Given the description of an element on the screen output the (x, y) to click on. 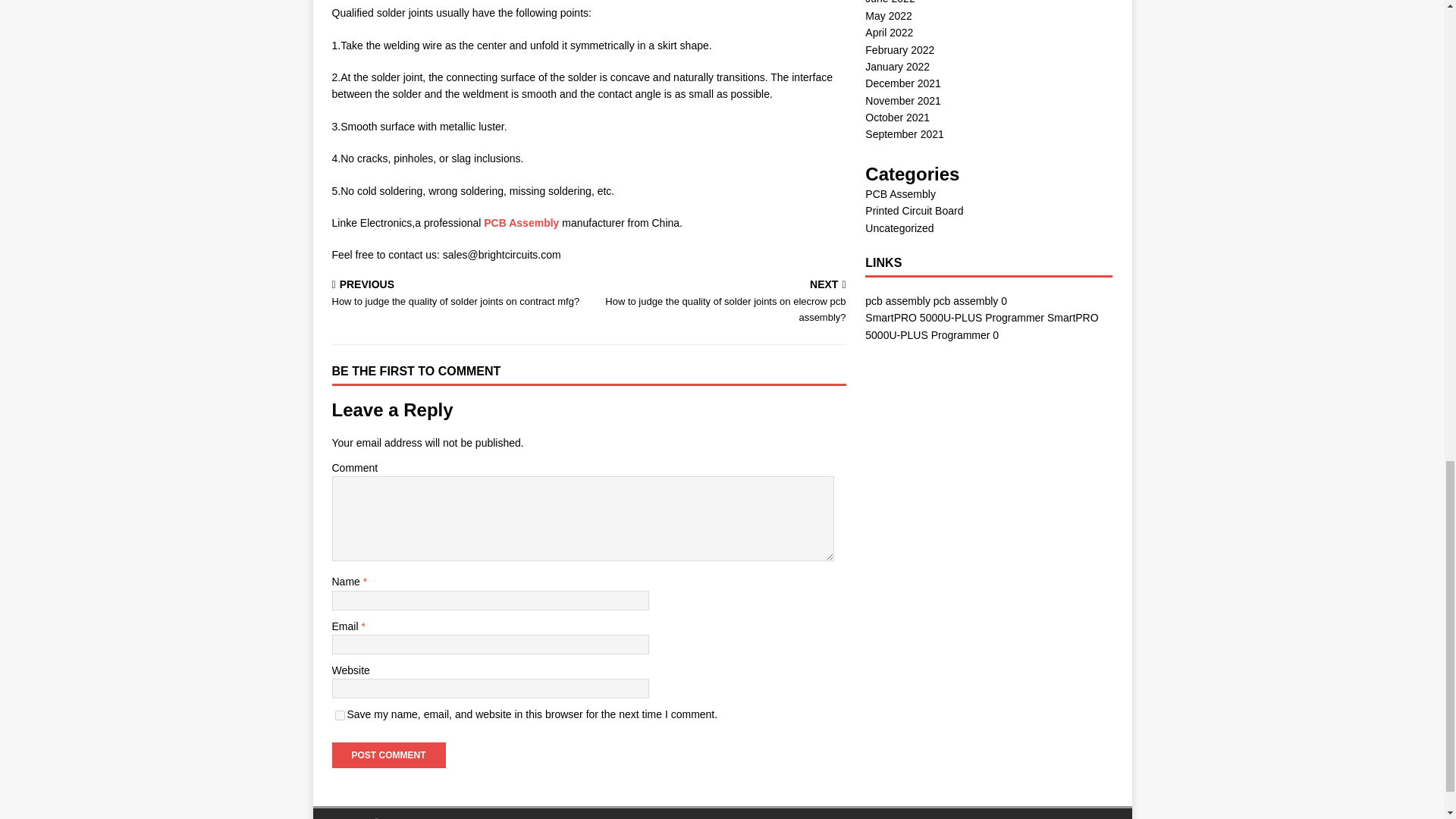
Post Comment (388, 755)
Professional PCB Assembly service (521, 223)
yes (339, 715)
SmartPRO 5000U-PLUS Programmer (953, 317)
Post Comment (388, 755)
pcb assembly (897, 300)
PCB Assembly (521, 223)
